Given the description of an element on the screen output the (x, y) to click on. 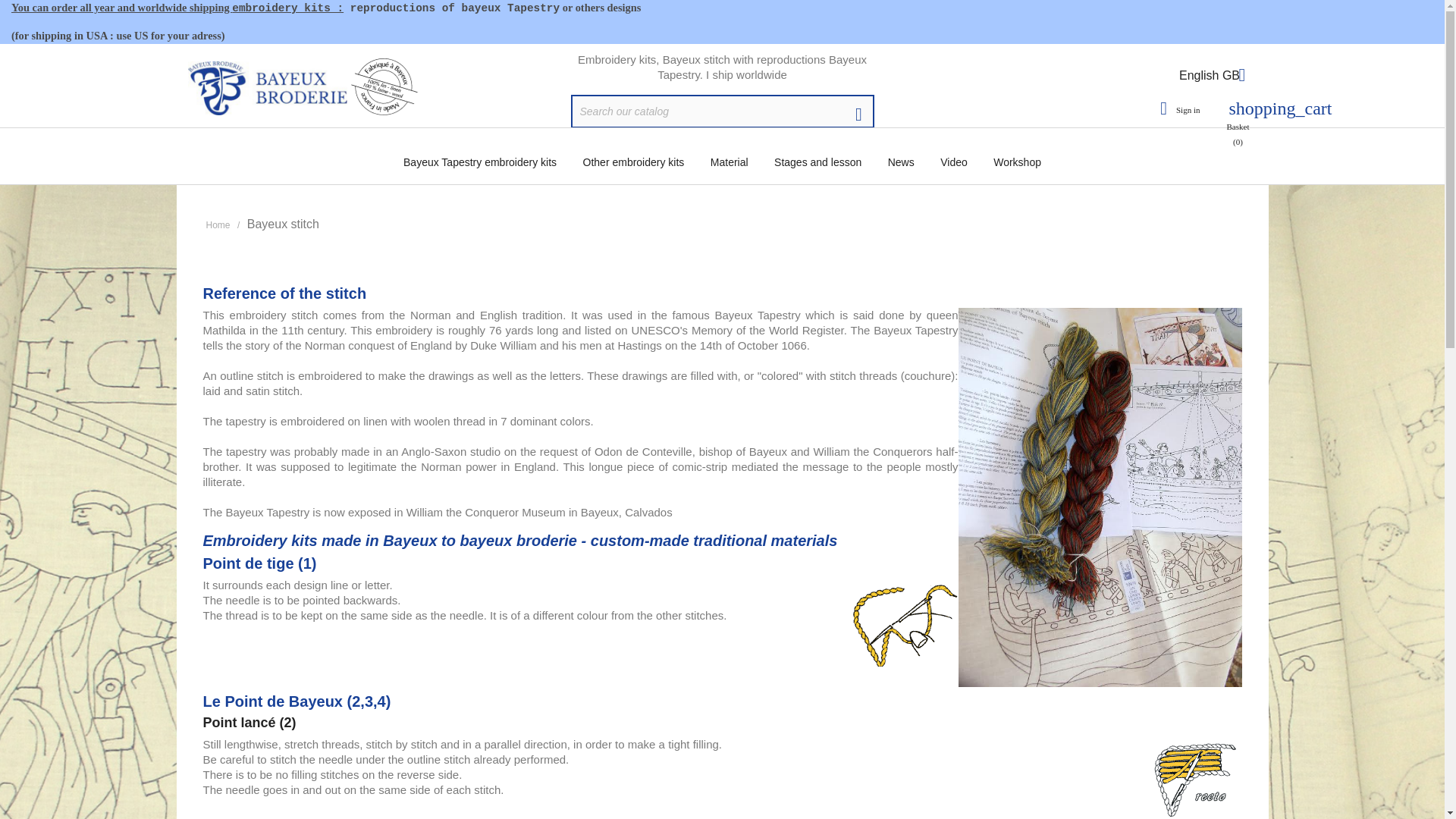
Log in to your customer account (1177, 99)
Home (218, 225)
Bayeux Tapestry embroidery kits (479, 162)
Workshop (1016, 162)
Material (729, 162)
Stages and lesson (817, 162)
News (901, 162)
Other embroidery kits (633, 162)
Video (953, 162)
